Given the description of an element on the screen output the (x, y) to click on. 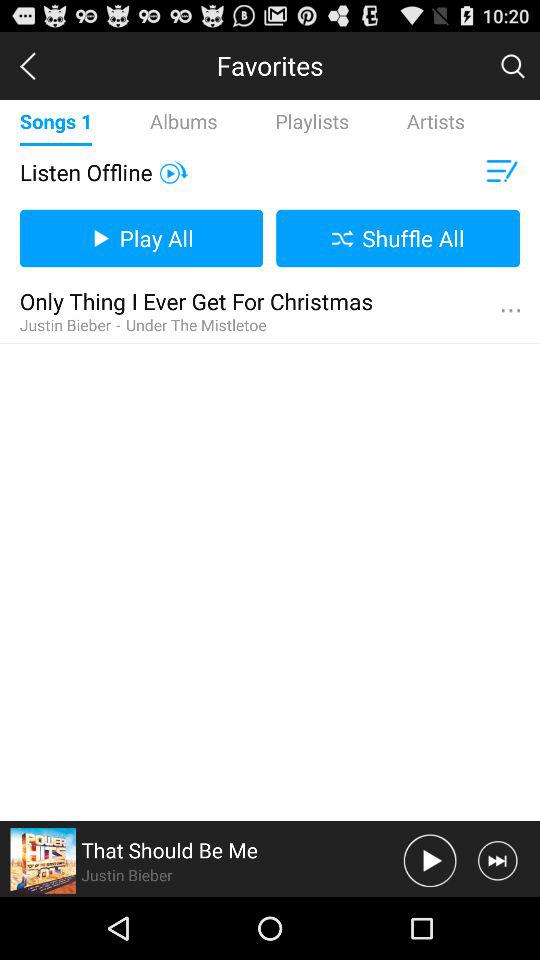
go to search box (512, 65)
